Given the description of an element on the screen output the (x, y) to click on. 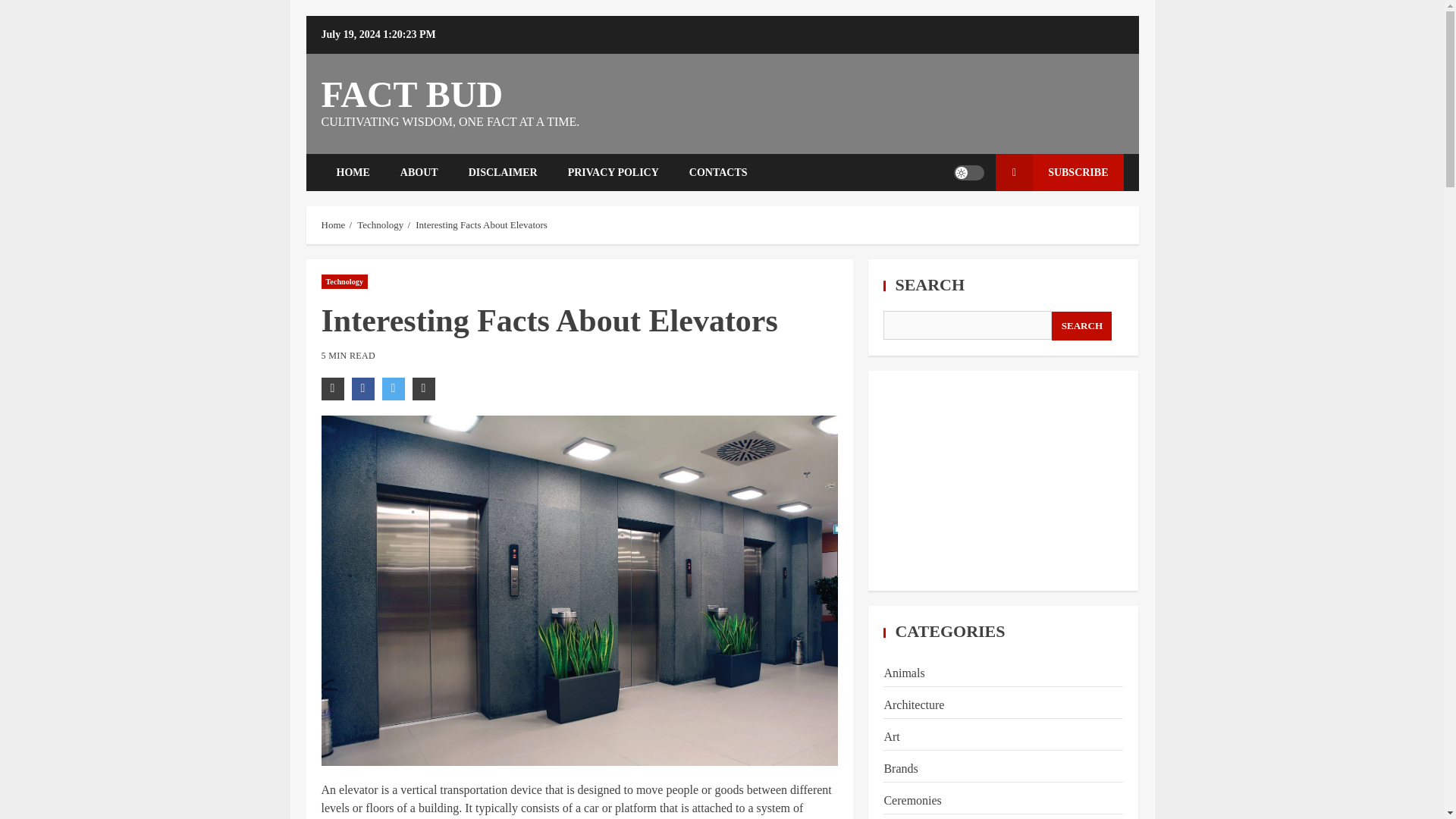
HOME (353, 171)
Home (333, 224)
ABOUT (418, 171)
DISCLAIMER (502, 171)
Architecture (913, 704)
Technology (379, 224)
PRIVACY POLICY (613, 171)
Animals (903, 672)
FACT BUD (412, 94)
Advertisement (1002, 480)
Art (891, 736)
CONTACTS (718, 171)
Ceremonies (911, 799)
SEARCH (1081, 326)
